Given the description of an element on the screen output the (x, y) to click on. 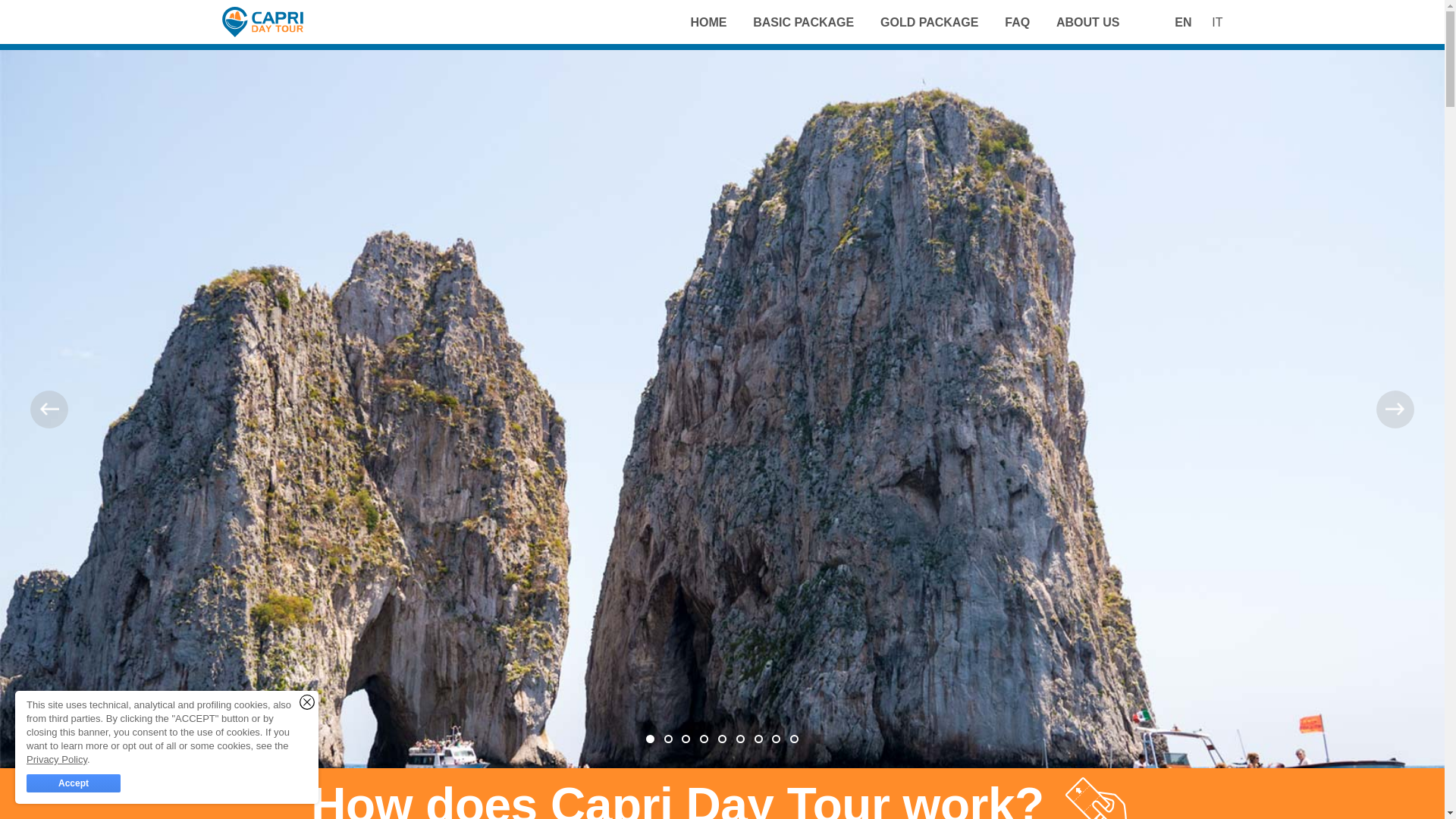
GOLD PACKAGE (929, 26)
Close (306, 702)
BASIC PACKAGE (802, 26)
English (1182, 22)
FAQ (1016, 26)
EN (1182, 22)
HOME (708, 26)
ABOUT US (1088, 26)
